Given the description of an element on the screen output the (x, y) to click on. 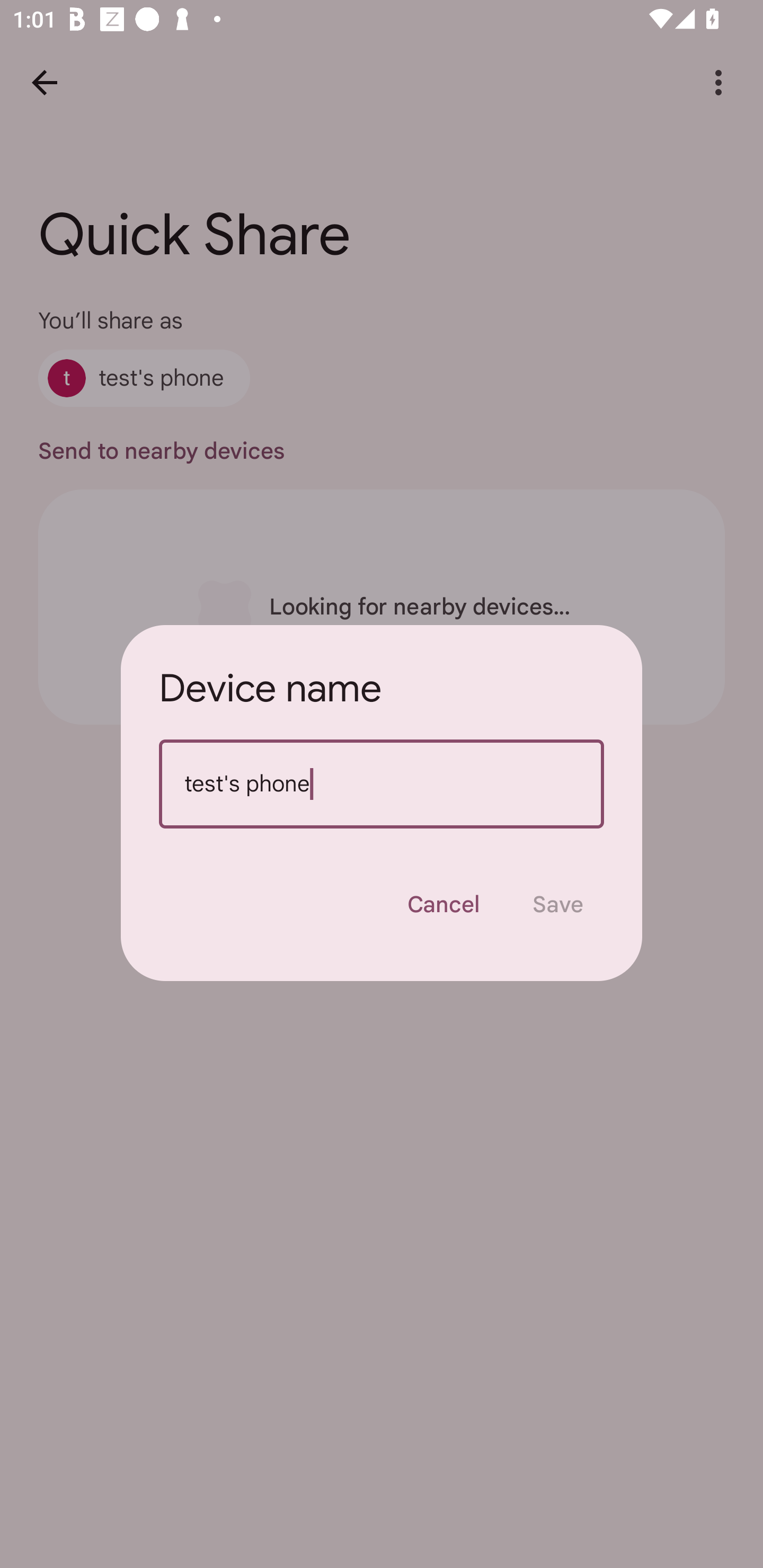
test's phone Device name (381, 783)
Cancel (443, 904)
Save (557, 904)
